Given the description of an element on the screen output the (x, y) to click on. 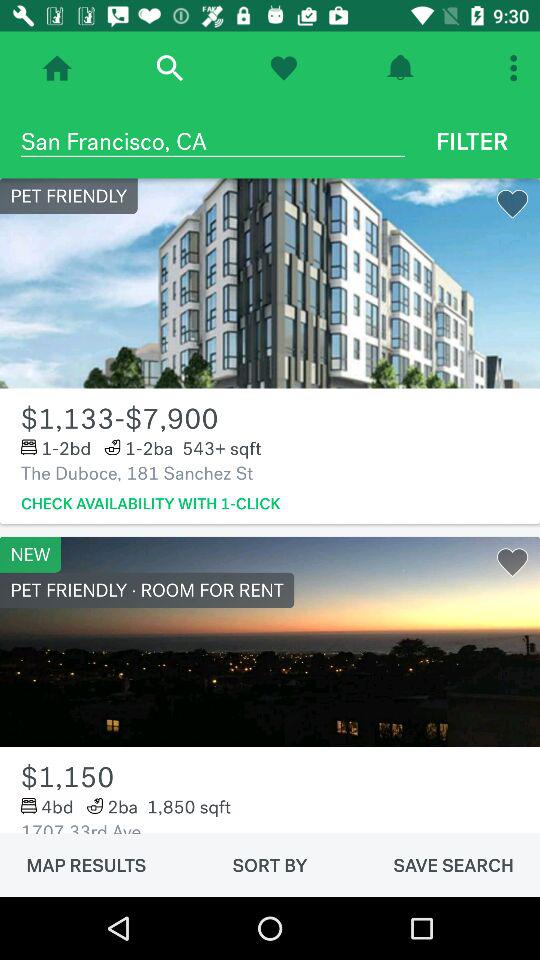
press icon to the right of the sort by (453, 865)
